Given the description of an element on the screen output the (x, y) to click on. 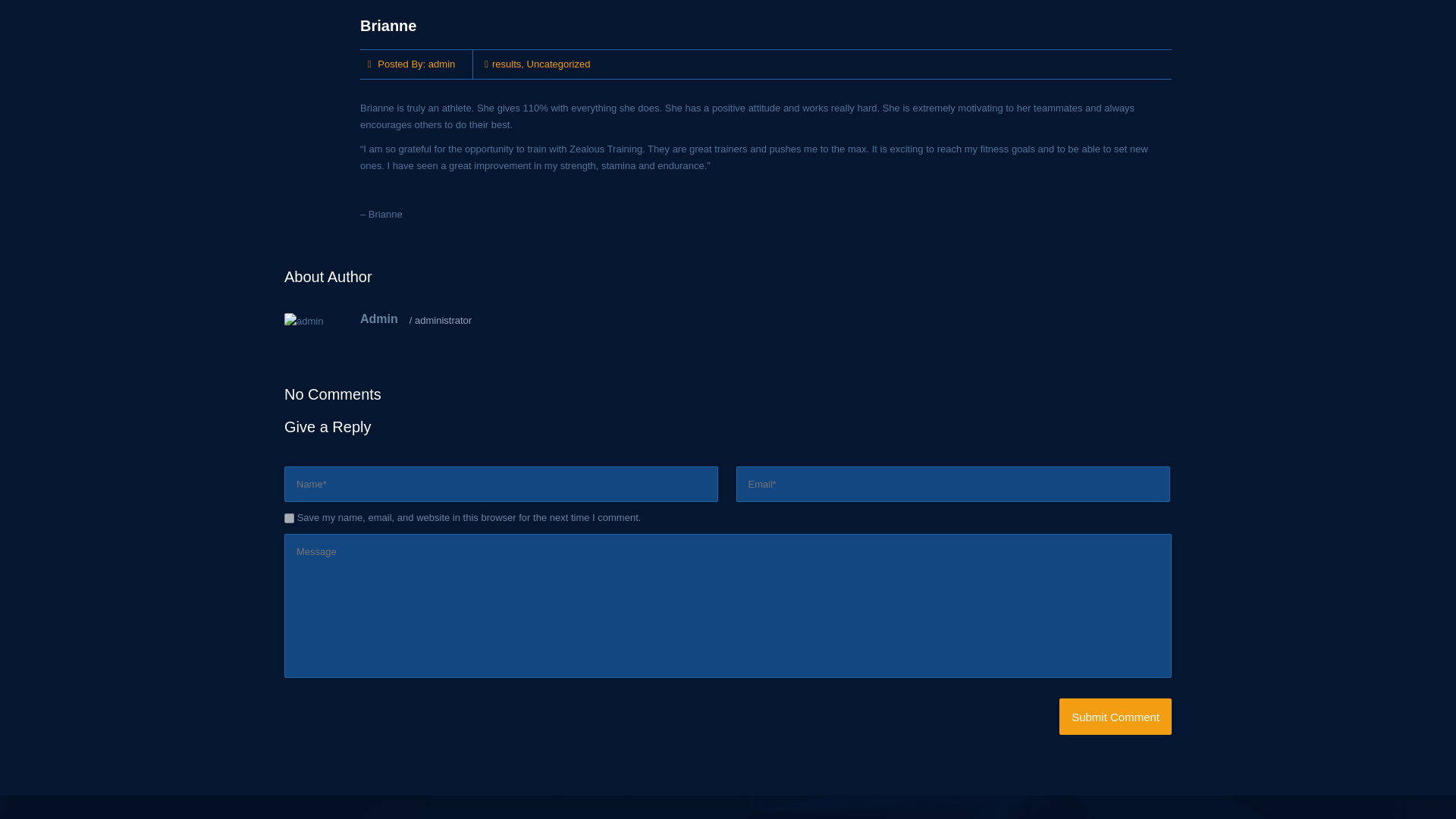
Submit Comment (1115, 716)
